Given the description of an element on the screen output the (x, y) to click on. 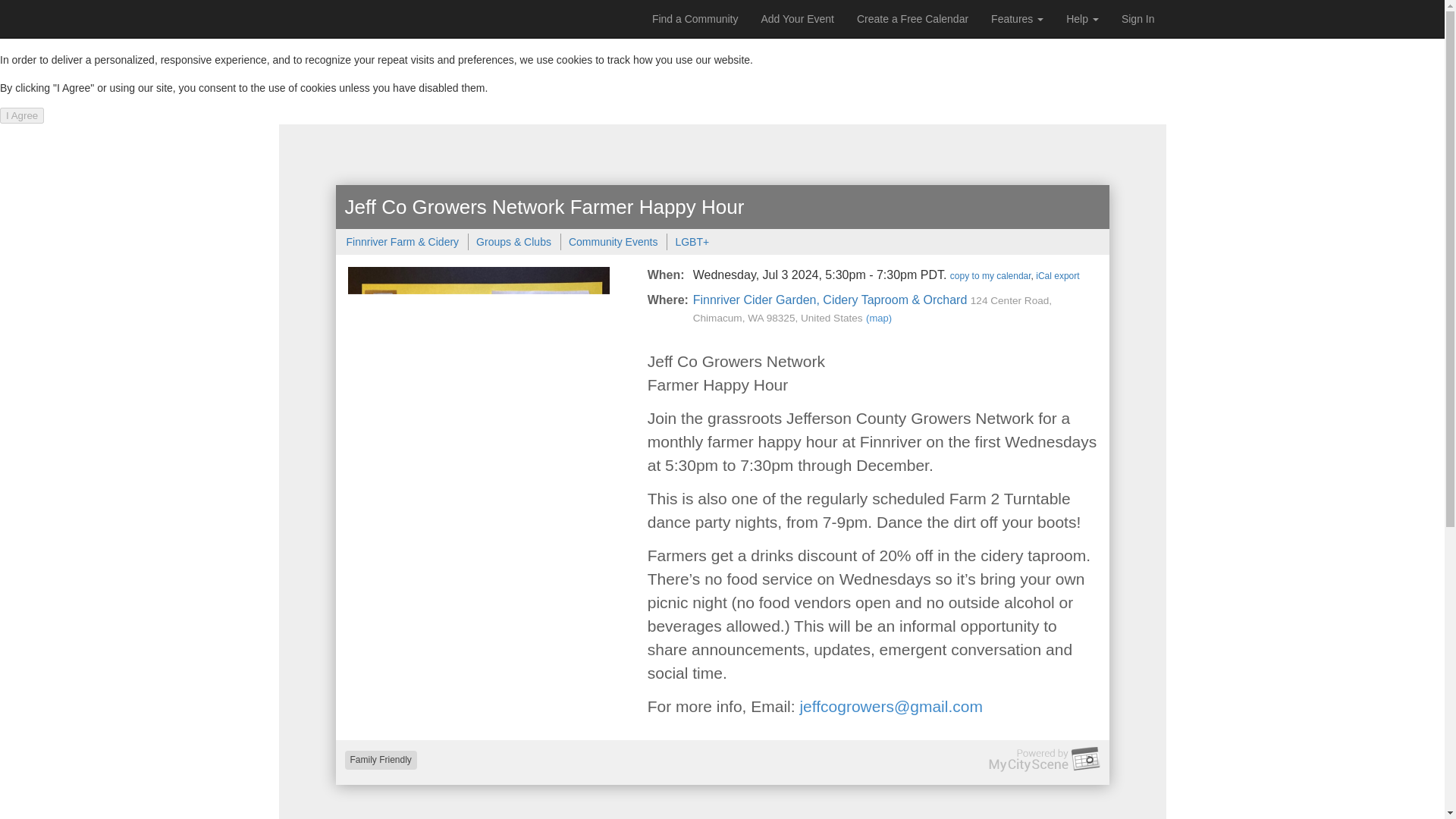
Community Events (613, 241)
Add Your Event (797, 18)
copy to my calendar (990, 276)
Show all events from this venue (830, 299)
Help (1081, 18)
Features (1016, 18)
Create a Free Calendar (912, 18)
iCal export (1056, 276)
Sign In (1137, 18)
Find a Community (694, 18)
